Given the description of an element on the screen output the (x, y) to click on. 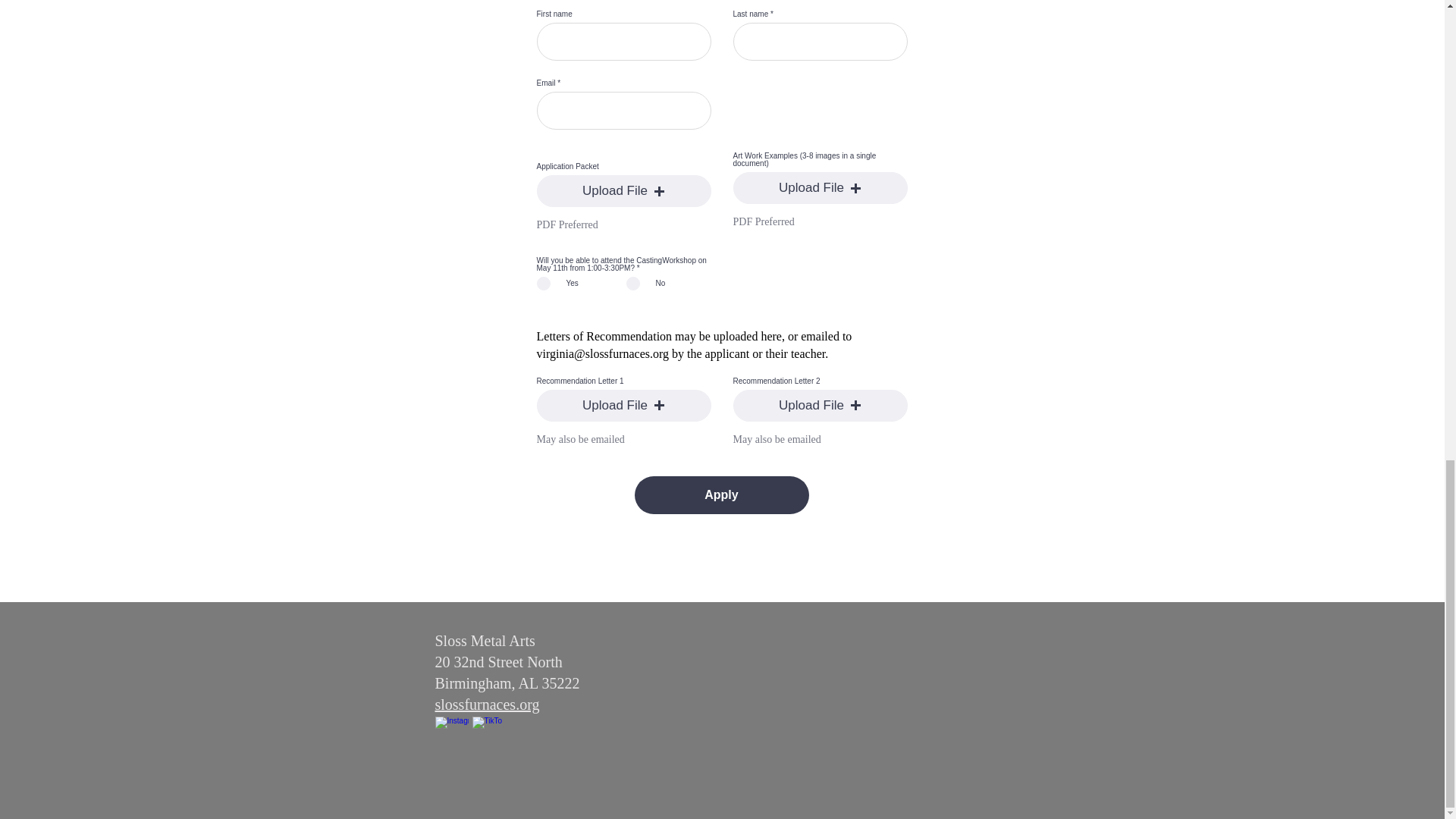
slossfurnaces.org (487, 704)
PDF Preferred (567, 224)
Apply (720, 494)
May also be emailed (776, 439)
PDF Preferred (762, 222)
May also be emailed (580, 439)
